Given the description of an element on the screen output the (x, y) to click on. 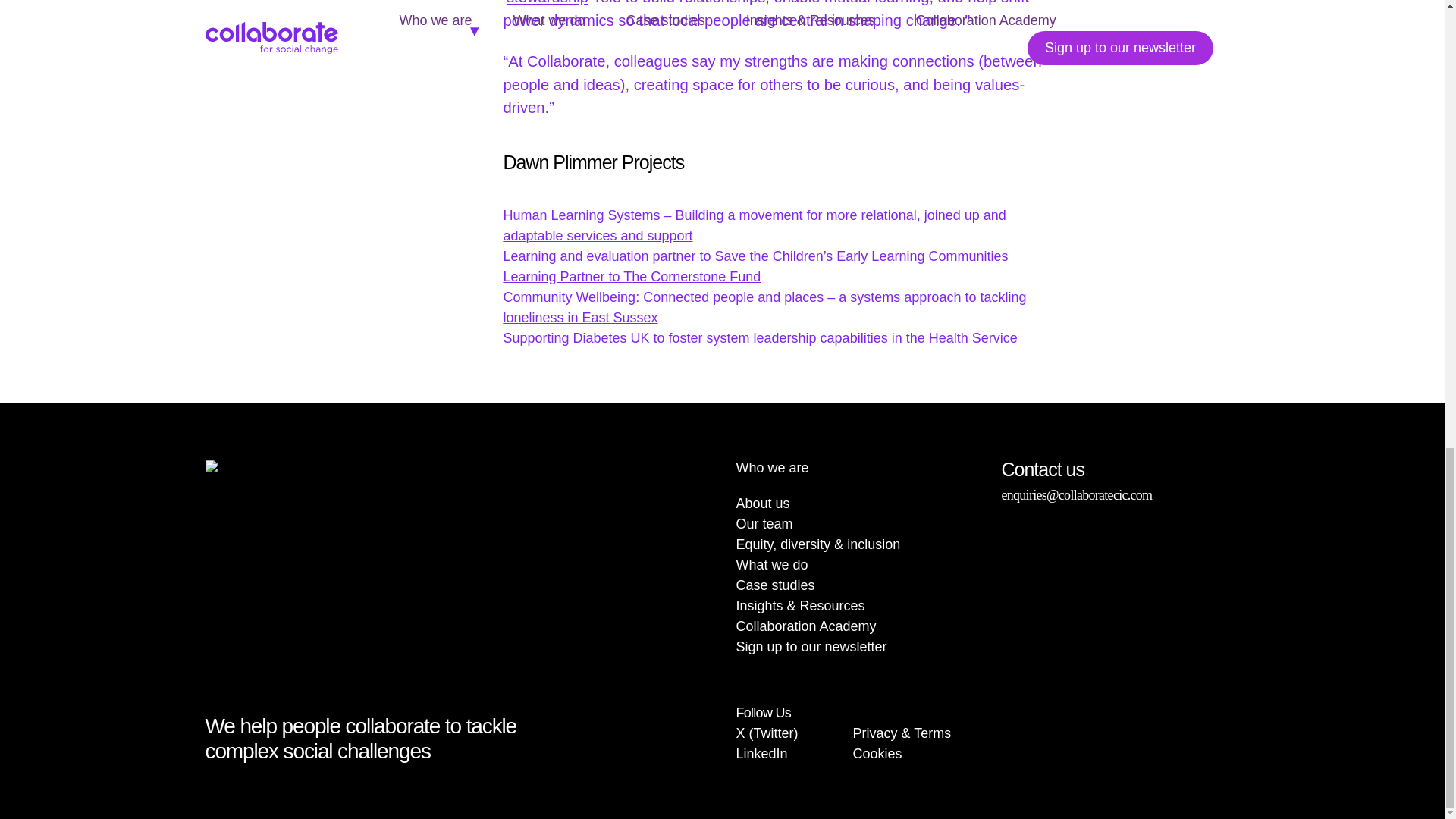
Learning Partner to The Cornerstone Fund (631, 276)
LinkedIn (761, 753)
What we do (771, 564)
stewardship (547, 2)
Our team (763, 523)
Sign up to our newsletter (810, 646)
Case studies (774, 585)
Cookies (877, 753)
Who we are (771, 467)
About us (762, 503)
Collaboration Academy (805, 626)
